Given the description of an element on the screen output the (x, y) to click on. 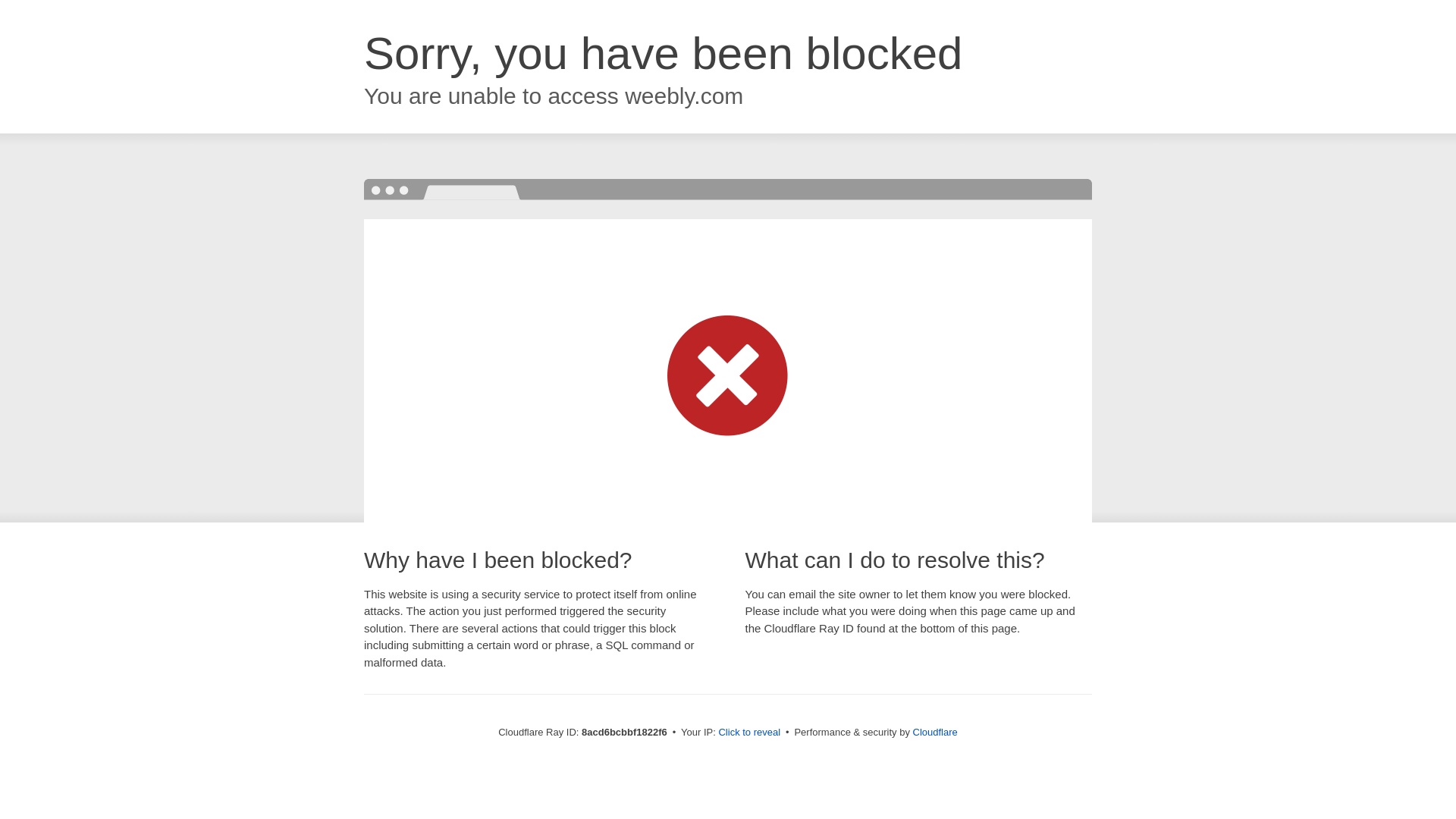
Cloudflare (935, 731)
Click to reveal (748, 732)
